Given the description of an element on the screen output the (x, y) to click on. 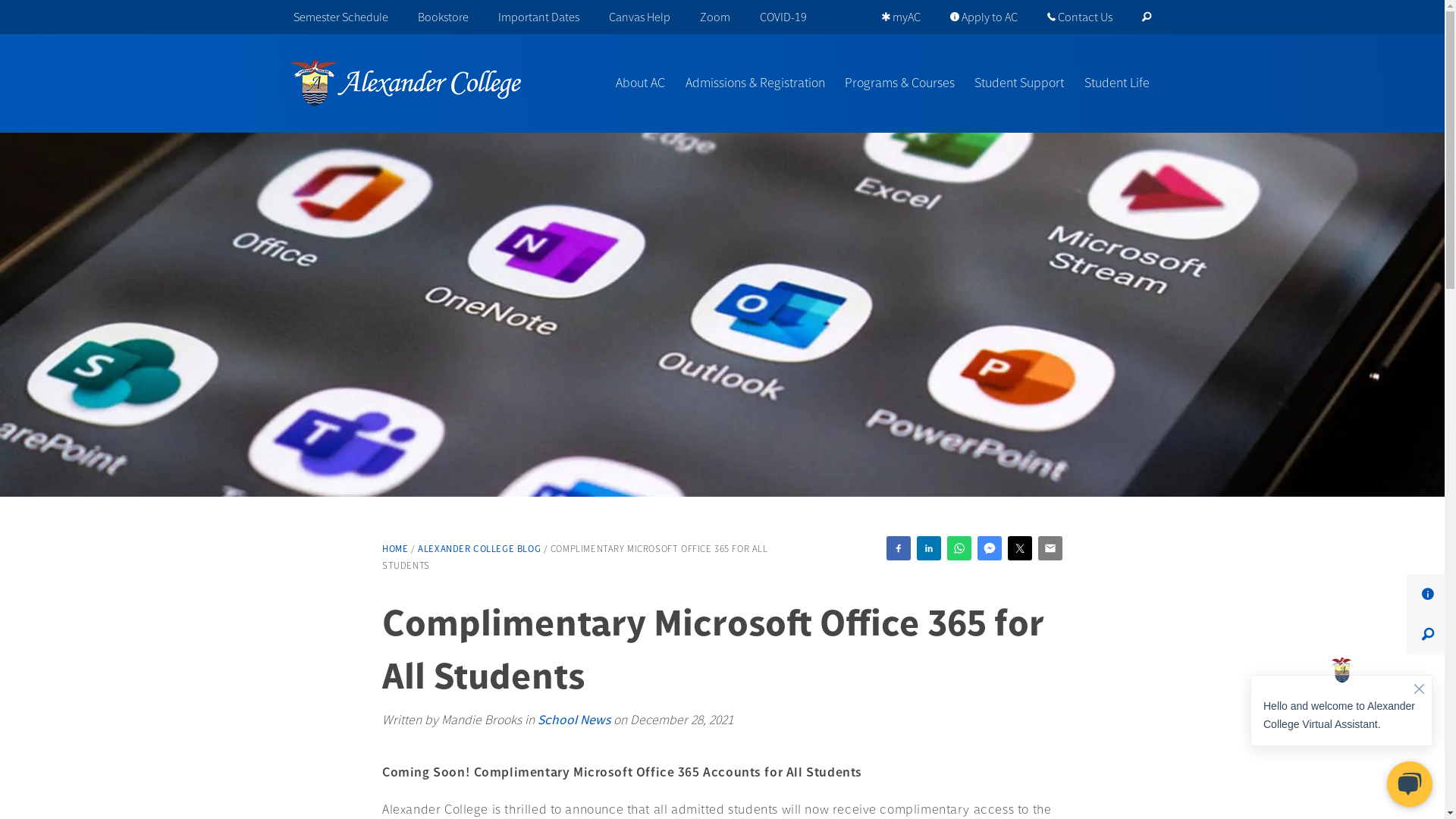
Programs & Courses Element type: text (894, 82)
myAC Element type: text (900, 16)
Apply to AC Element type: text (983, 16)
Zoom Element type: text (715, 16)
Student Life Element type: text (1111, 82)
School News Element type: text (573, 719)
Contact Us Element type: text (1079, 16)
Semester Schedule Element type: text (340, 16)
Important Dates Element type: text (538, 16)
ALEXANDER COLLEGE BLOG Element type: text (478, 548)
Bookstore Element type: text (443, 16)
COVID-19 Element type: text (783, 16)
HOME Element type: text (394, 548)
Student Support Element type: text (1014, 82)
About AC Element type: text (635, 82)
Canvas Help Element type: text (639, 16)
Admissions & Registration Element type: text (749, 82)
